Given the description of an element on the screen output the (x, y) to click on. 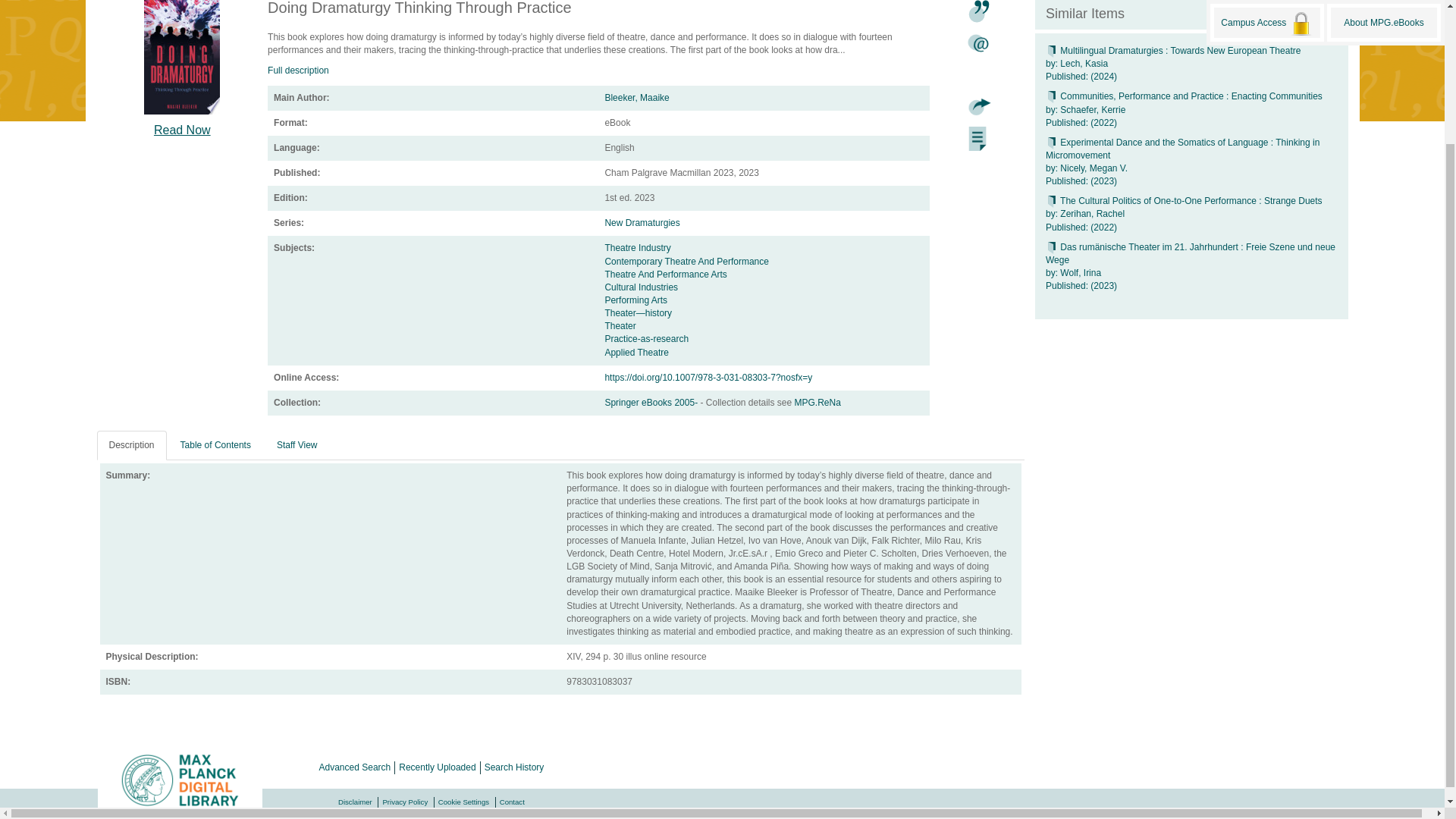
Theatre Industry (636, 247)
Theater (619, 326)
Performing Arts (635, 299)
Springer eBooks 2005- (652, 402)
Springer eBooks 2005- (652, 402)
MPG.ReNa (817, 402)
Cultural Industries (641, 286)
Applied Theatre (636, 352)
Theatre And Performance Arts (665, 274)
MPG.ReNa (817, 402)
